Given the description of an element on the screen output the (x, y) to click on. 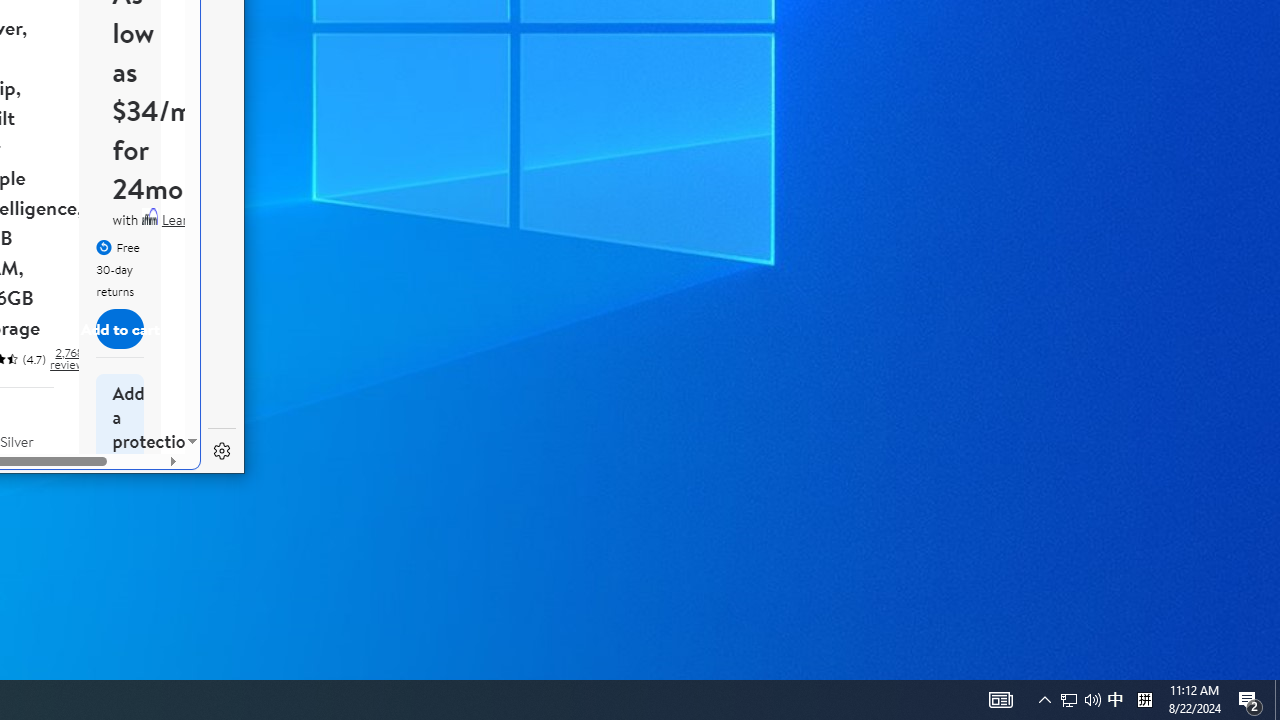
AutomationID: 4105 (1000, 699)
Free 30-day returns (119, 267)
selected, Silver, $649.00 (28, 498)
2,768 reviews (67, 358)
